Given the description of an element on the screen output the (x, y) to click on. 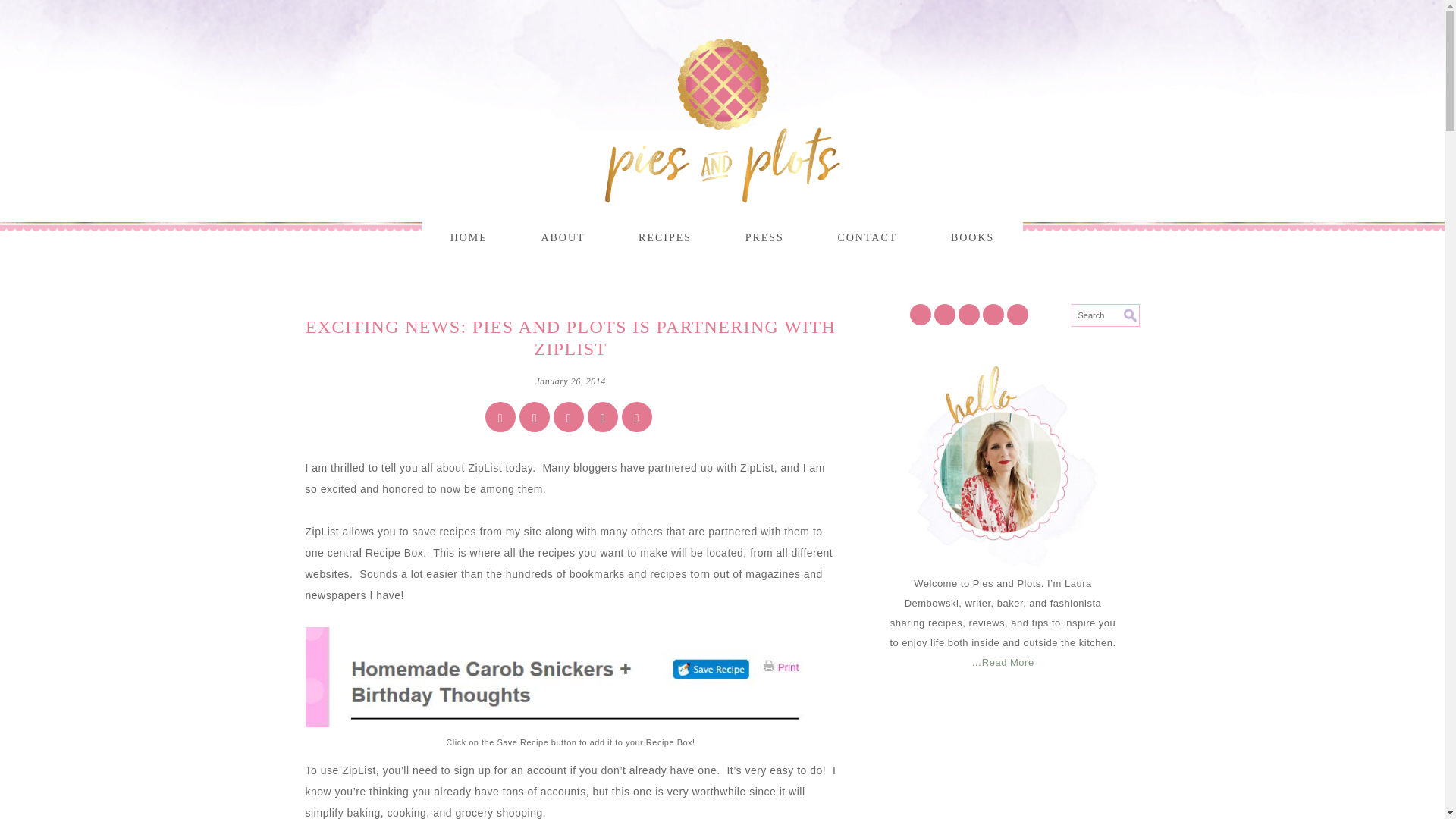
ABOUT (562, 237)
BOOKS (972, 237)
ZipList Save Button (569, 677)
HOME (469, 237)
RECIPES (665, 237)
CONTACT (867, 237)
PRESS (764, 237)
